Given the description of an element on the screen output the (x, y) to click on. 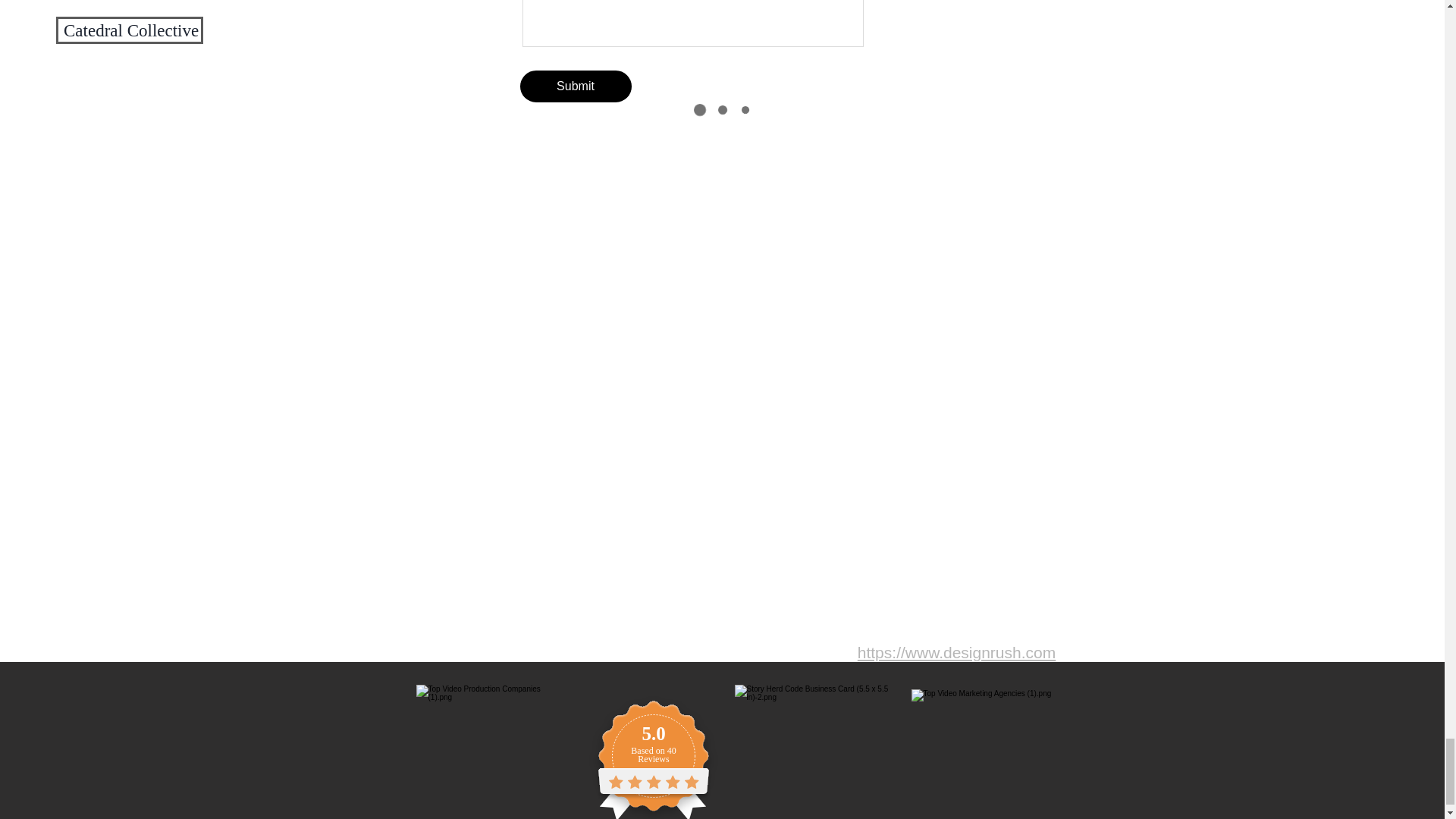
Embedded Content (669, 754)
Submit (575, 86)
